Given the description of an element on the screen output the (x, y) to click on. 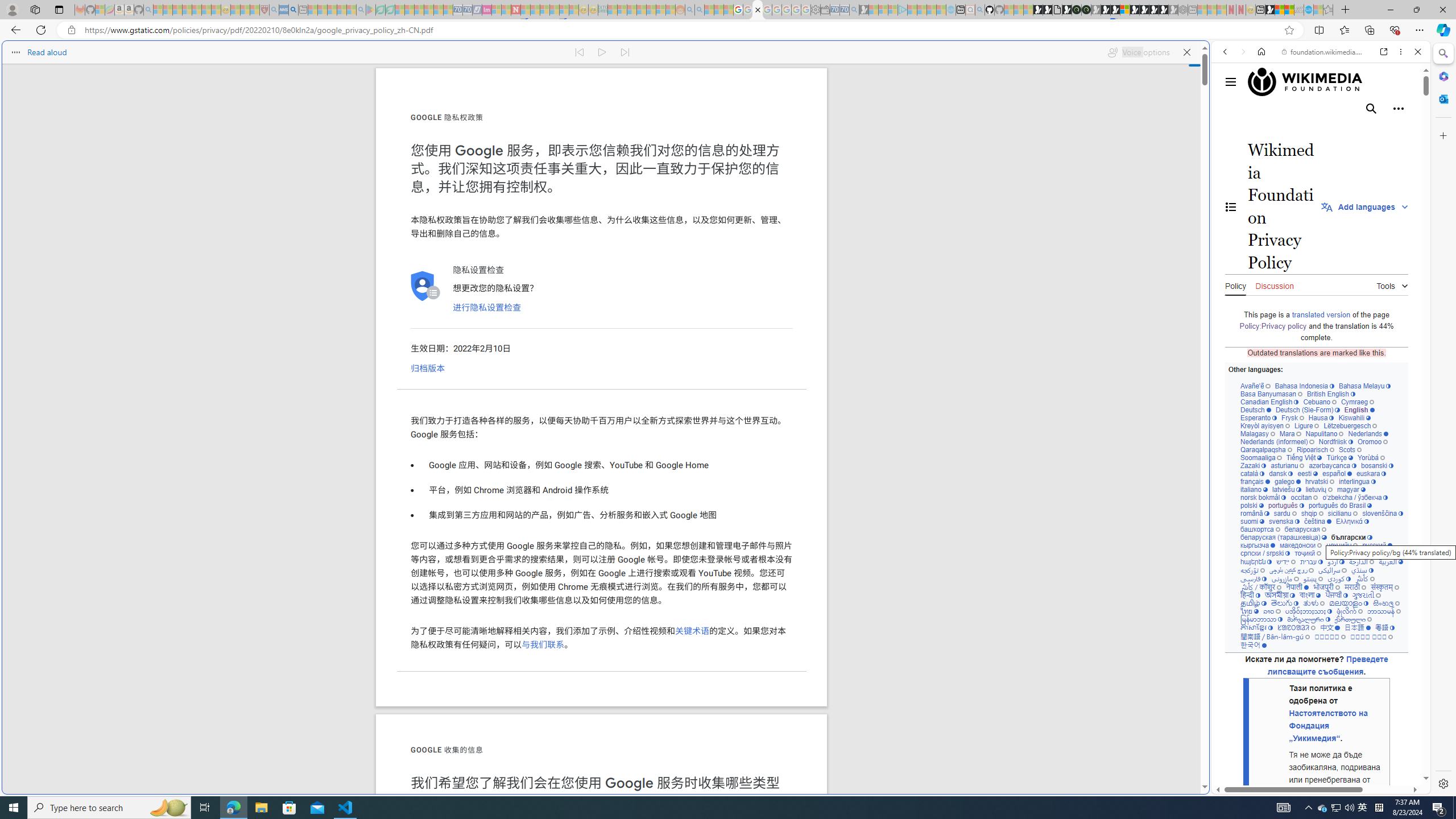
Qaraqalpaqsha (1266, 449)
Mara (1290, 433)
Read next paragraph (624, 52)
